Given the description of an element on the screen output the (x, y) to click on. 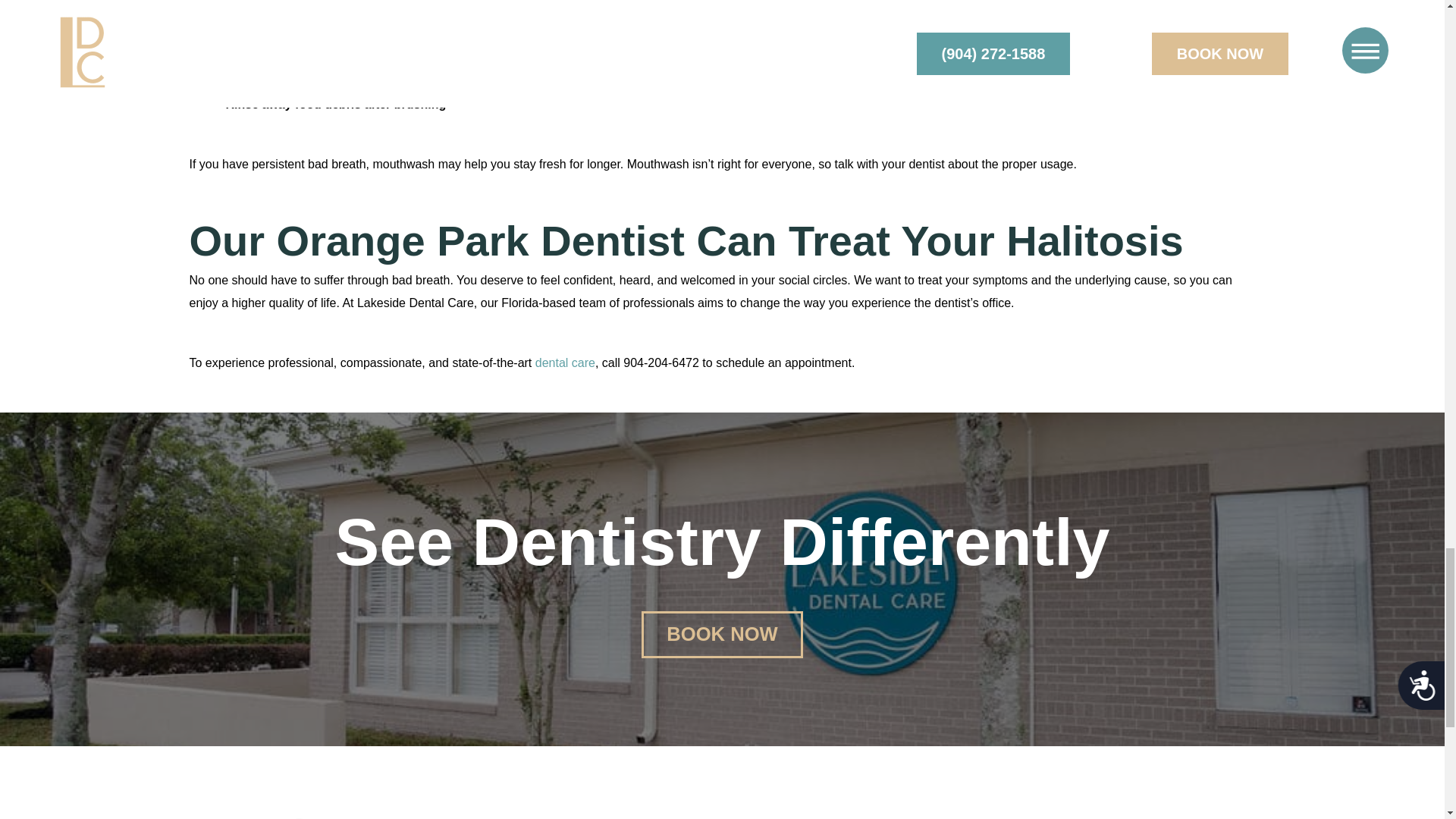
dental care (565, 362)
BOOK NOW (722, 634)
